Given the description of an element on the screen output the (x, y) to click on. 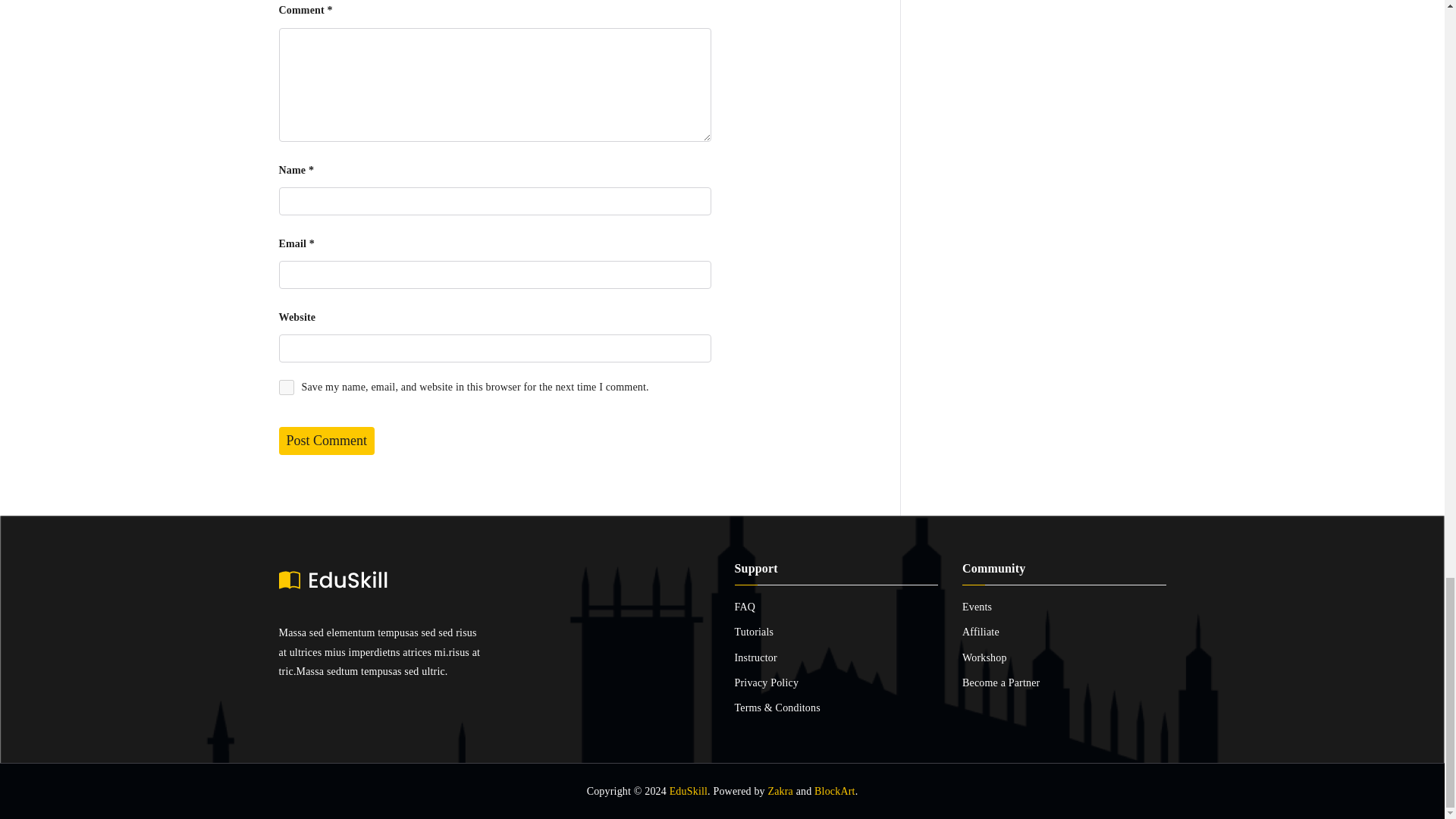
Privacy Policy (835, 682)
BlockArt (834, 790)
Zakra (780, 790)
FAQ (835, 606)
Post Comment (327, 440)
yes (286, 387)
Post Comment (327, 440)
EduSkill (688, 790)
Instructor (835, 657)
Tutorials (835, 631)
